Given the description of an element on the screen output the (x, y) to click on. 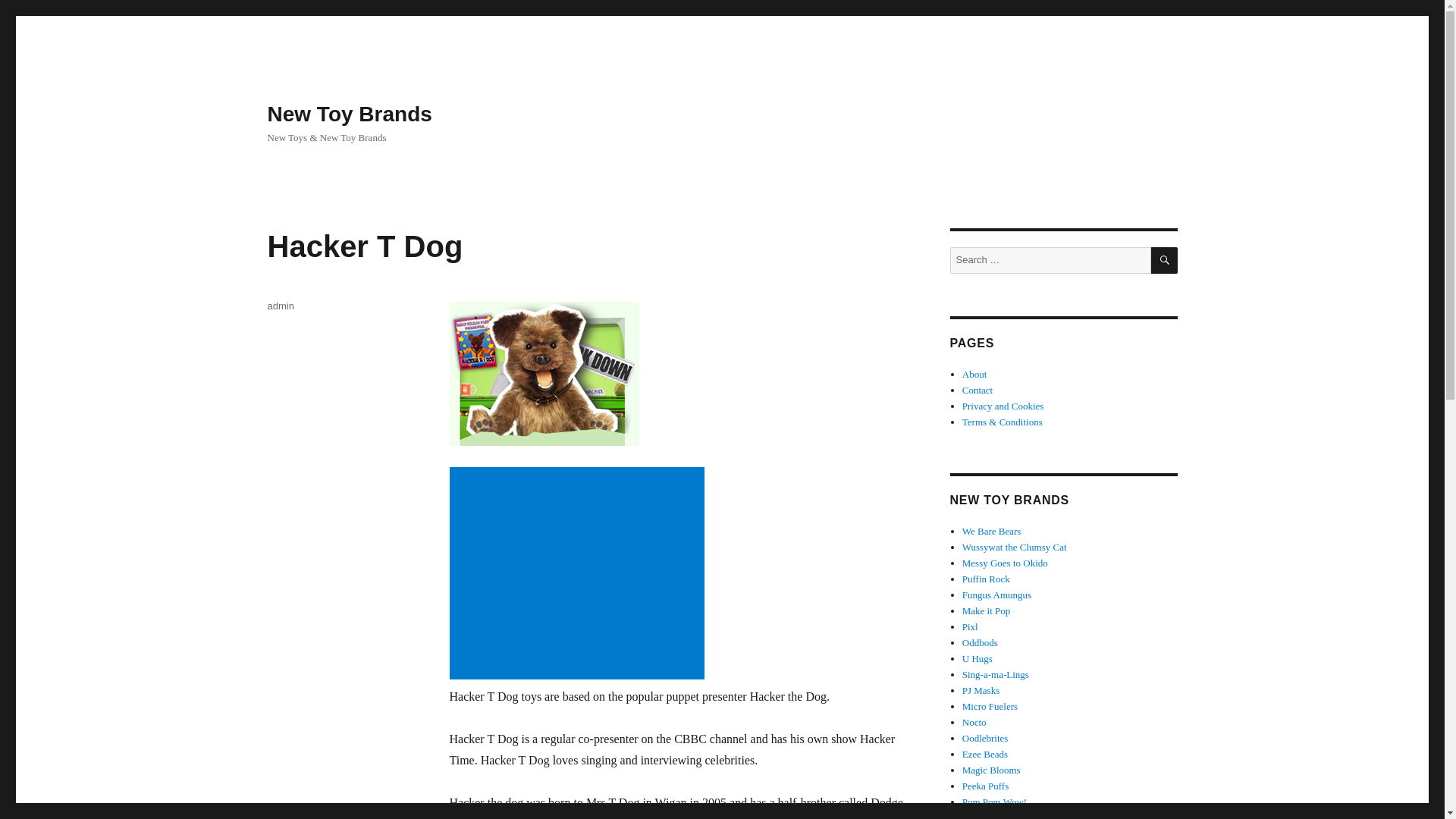
Magic Blooms (991, 769)
Oddbods (979, 642)
We Bare Bears (992, 531)
New Toy Brands (348, 114)
Charm U (980, 815)
U Hugs (977, 658)
PJ Masks (981, 690)
Pom Pom Wow! (994, 801)
Wussywat the Clumsy Cat (1014, 546)
Sing-a-ma-Lings (995, 674)
